Given the description of an element on the screen output the (x, y) to click on. 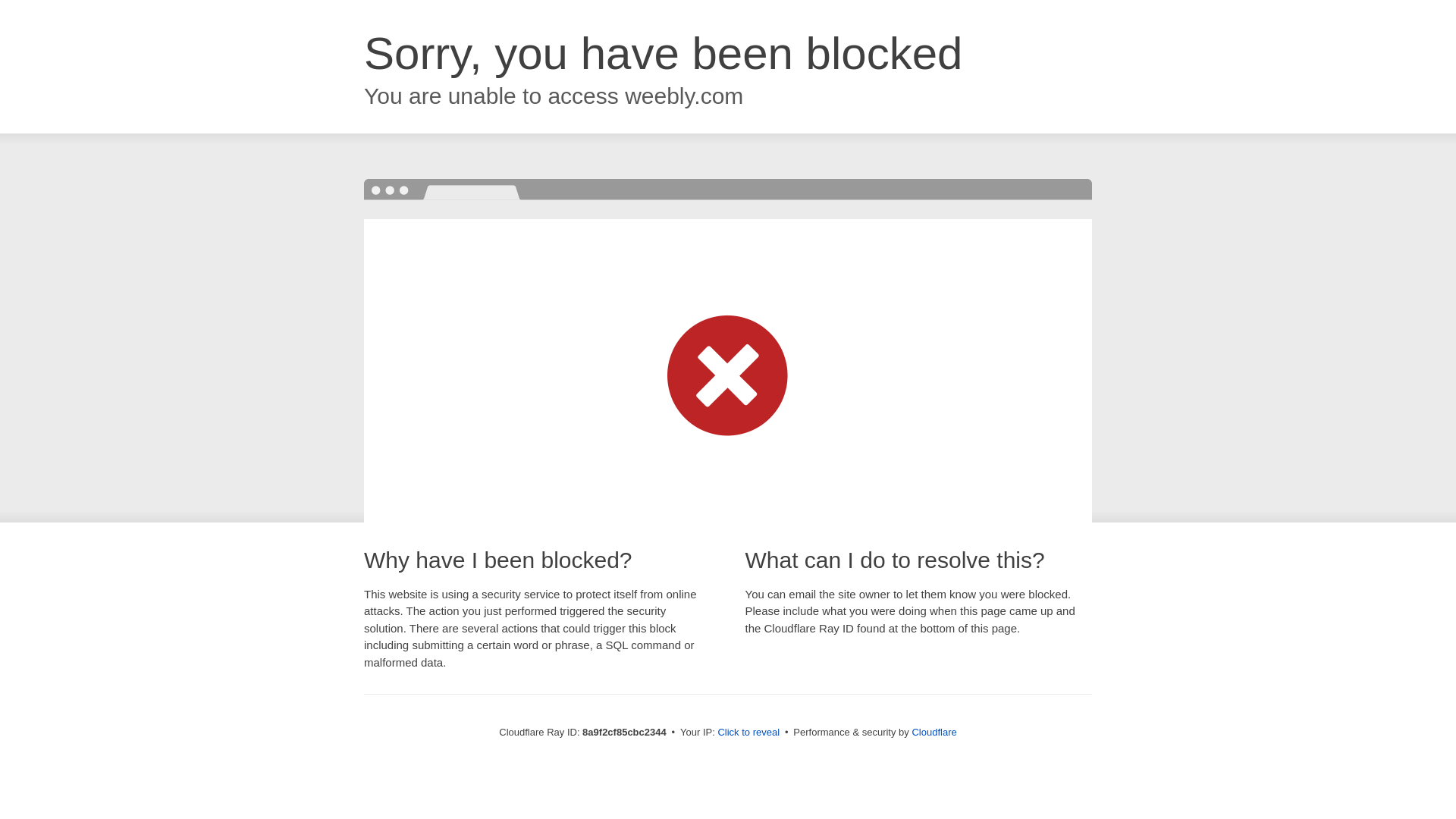
Cloudflare (933, 731)
Click to reveal (747, 732)
